Given the description of an element on the screen output the (x, y) to click on. 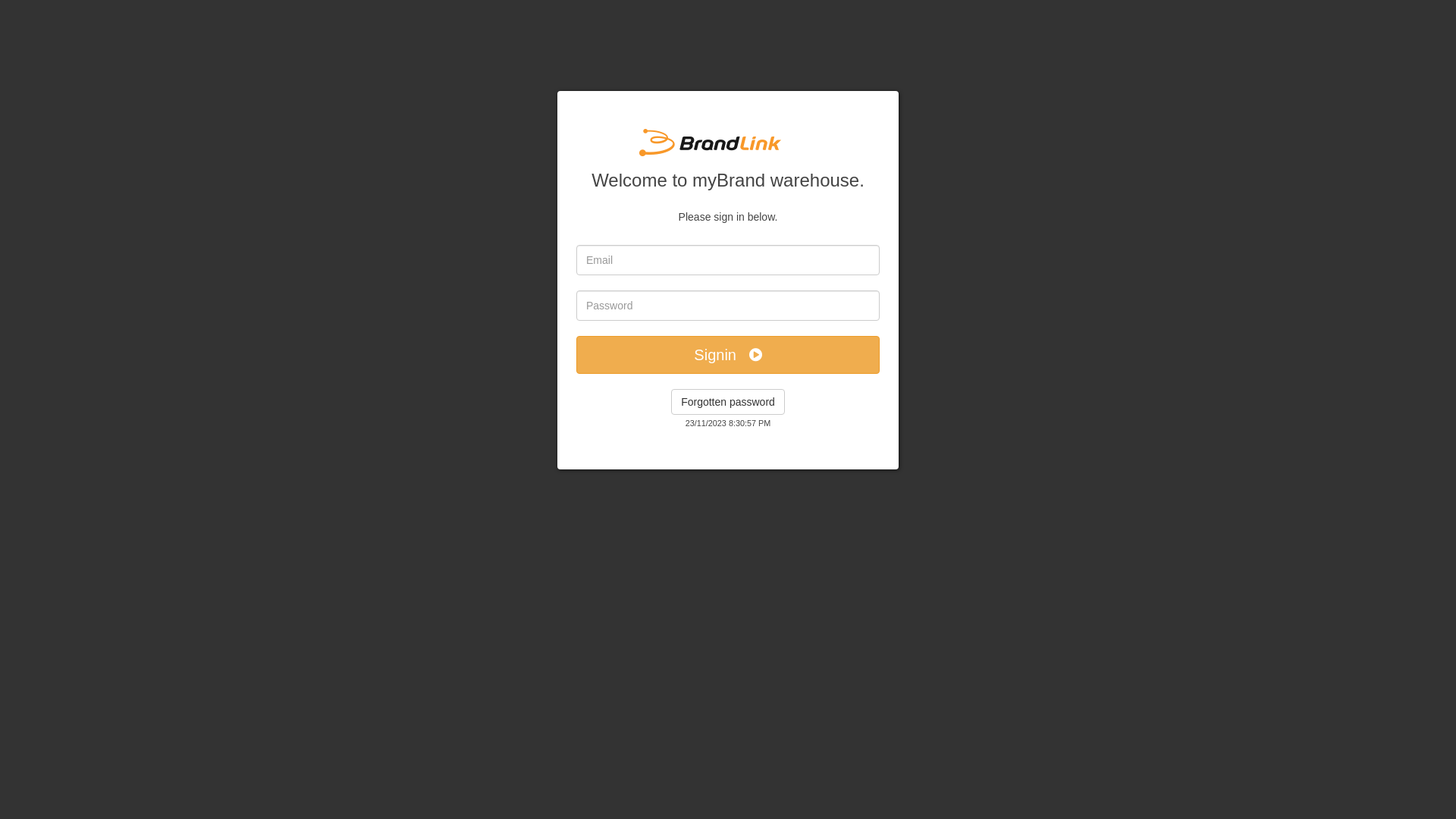
Signin   Element type: text (727, 354)
Forgotten password Element type: text (727, 401)
